Given the description of an element on the screen output the (x, y) to click on. 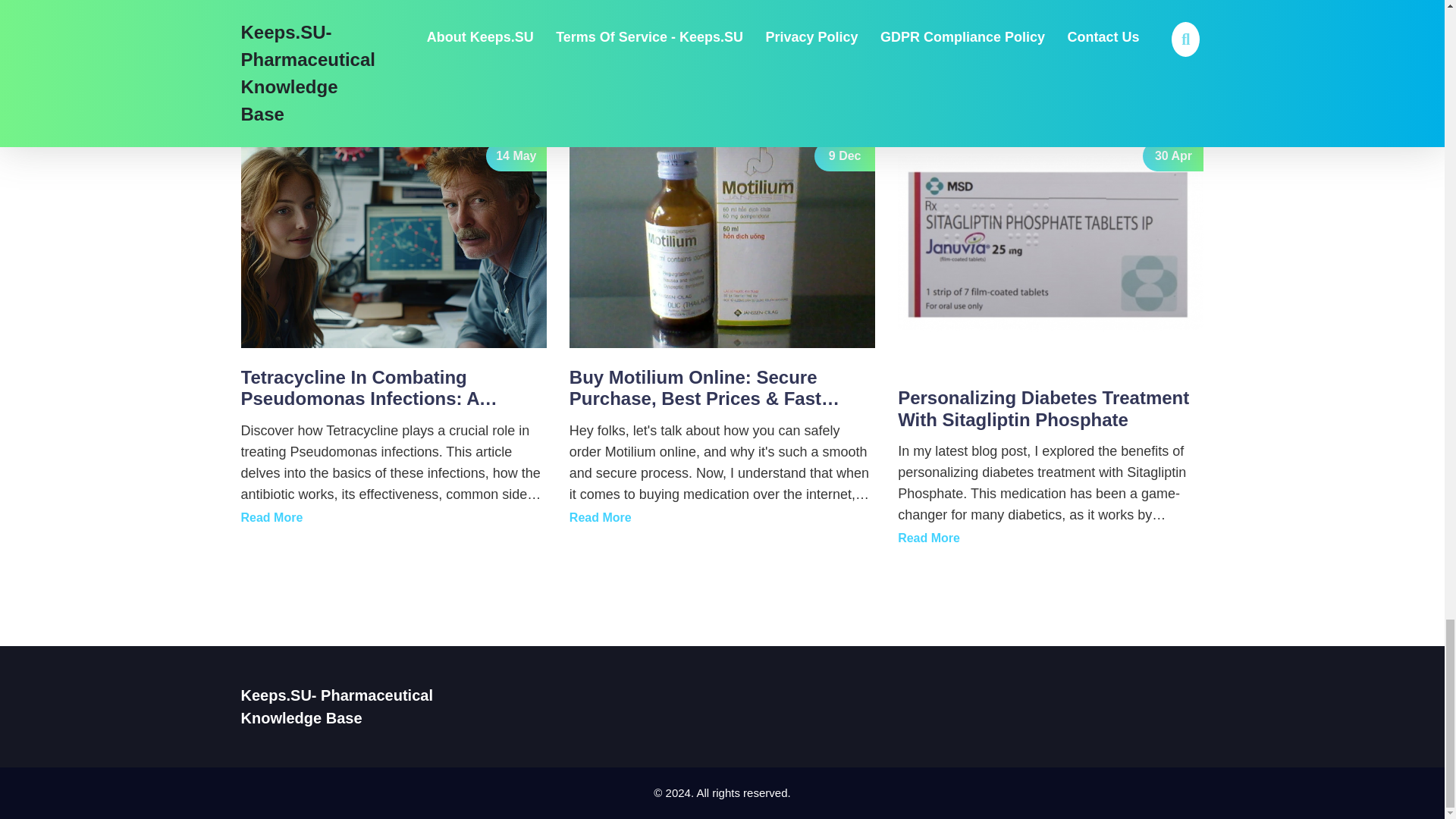
Personalizing Diabetes Treatment with Sitagliptin Phosphate (928, 538)
